Given the description of an element on the screen output the (x, y) to click on. 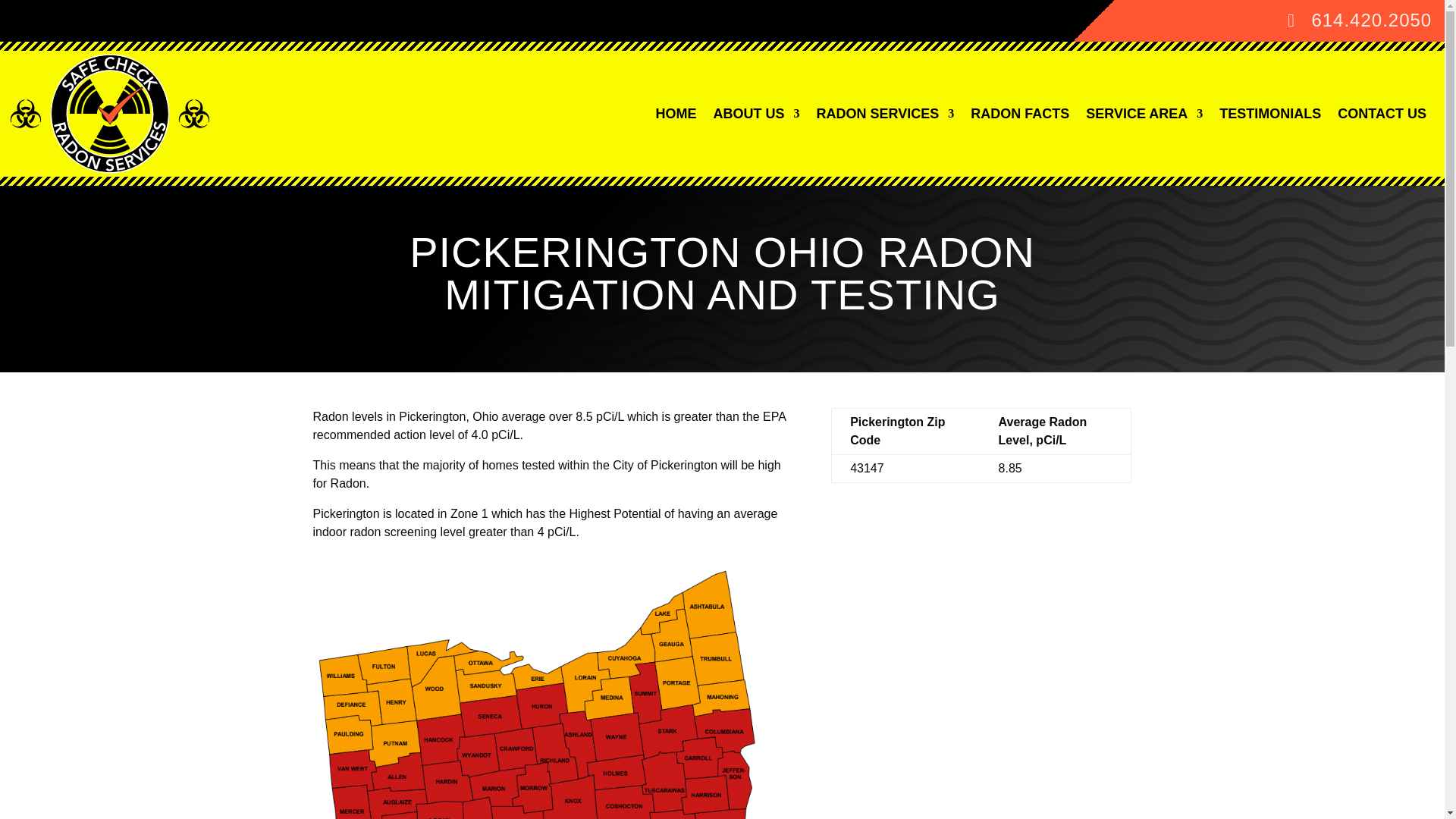
radon-ohio-map (549, 691)
RADON SERVICES (885, 113)
SERVICE AREA (1144, 113)
